Given the description of an element on the screen output the (x, y) to click on. 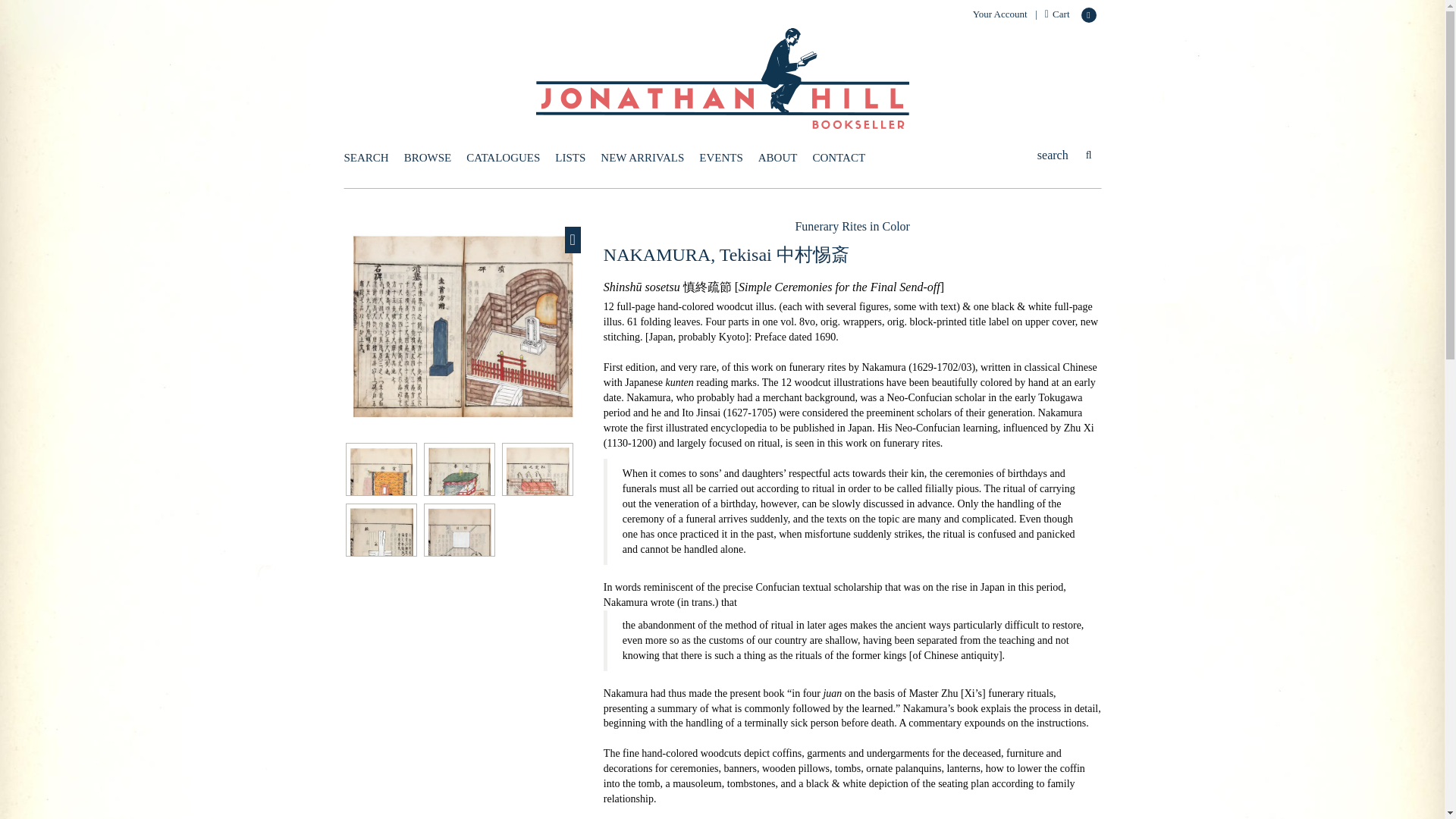
EVENTS (720, 157)
Follow on Twitter (1088, 14)
LISTS (569, 157)
NEW ARRIVALS (641, 157)
SEARCH (365, 157)
BROWSE (427, 157)
Your Account (999, 13)
CATALOGUES (502, 157)
ABOUT (777, 157)
SUBMIT SEARCH (1088, 155)
JONATHAN A. HILL, BOOKSELLER, INC. (721, 79)
Cart (1057, 13)
Skip to main content (8, 7)
CONTACT (838, 157)
